Given the description of an element on the screen output the (x, y) to click on. 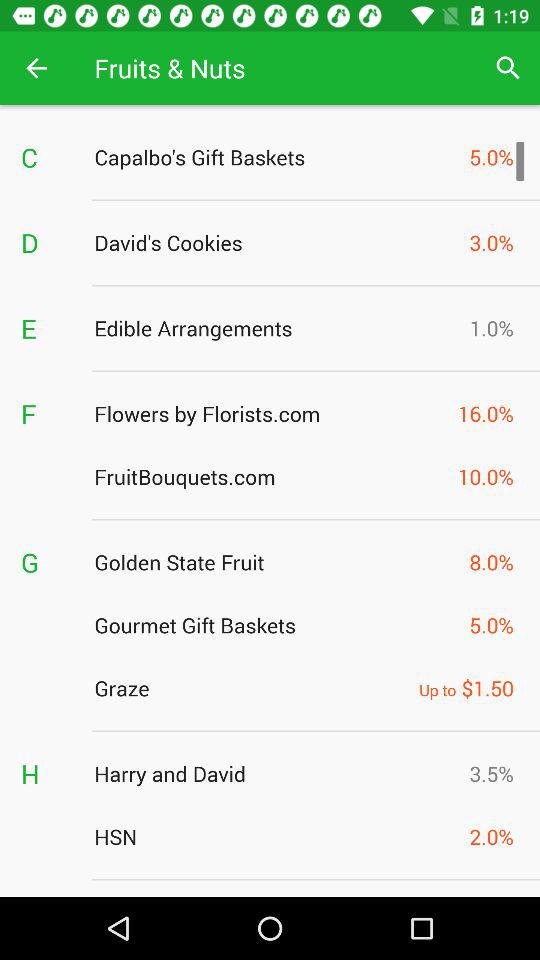
turn on the icon next to harry and david item (47, 773)
